Given the description of an element on the screen output the (x, y) to click on. 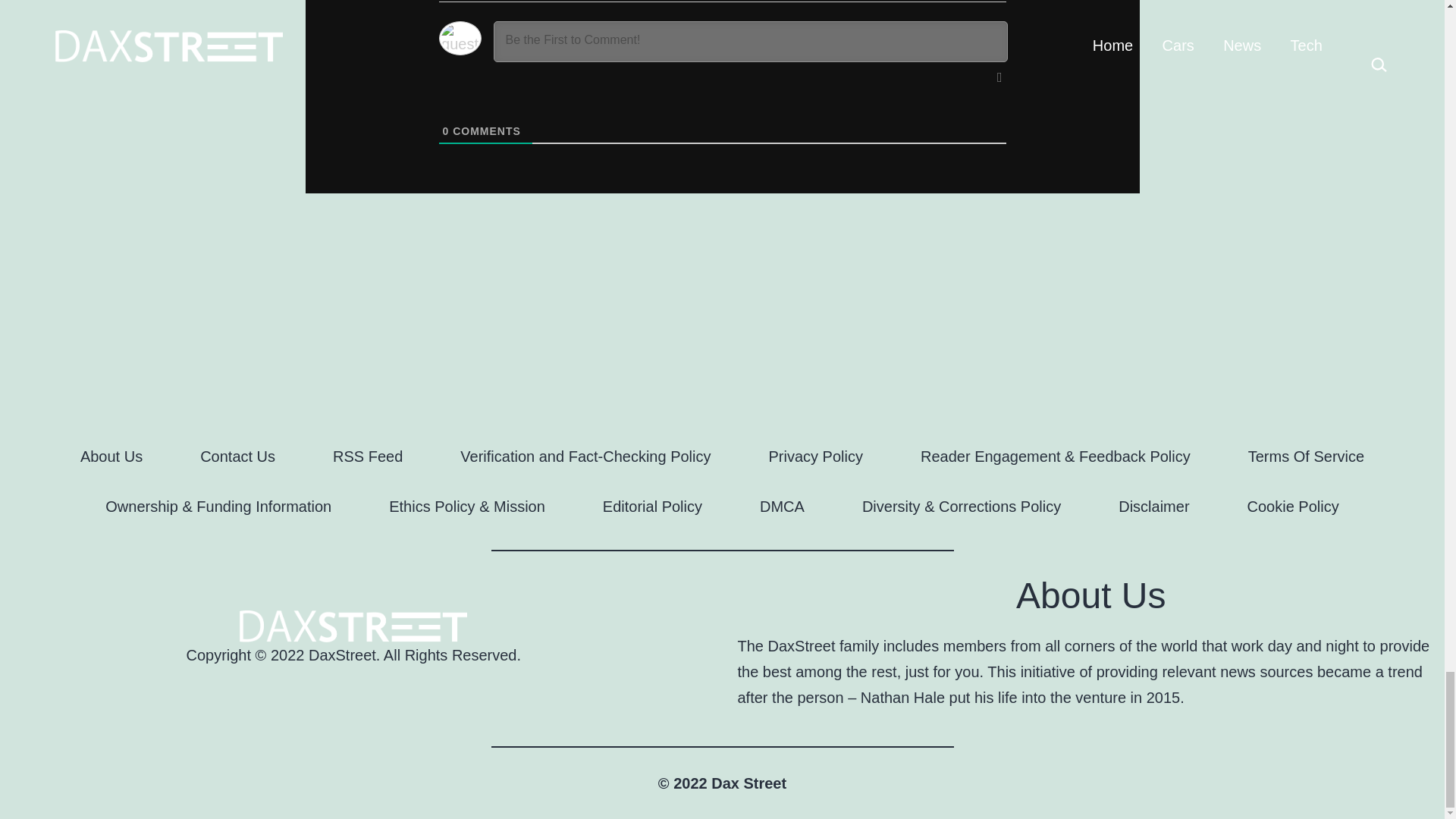
DMCA (781, 506)
Contact Us (236, 455)
Editorial Policy (652, 506)
Terms Of Service (1305, 455)
Cookie Policy (1292, 506)
RSS Feed (367, 455)
Disclaimer (1153, 506)
Privacy Policy (815, 455)
About Us (111, 455)
Verification and Fact-Checking Policy (585, 455)
